Given the description of an element on the screen output the (x, y) to click on. 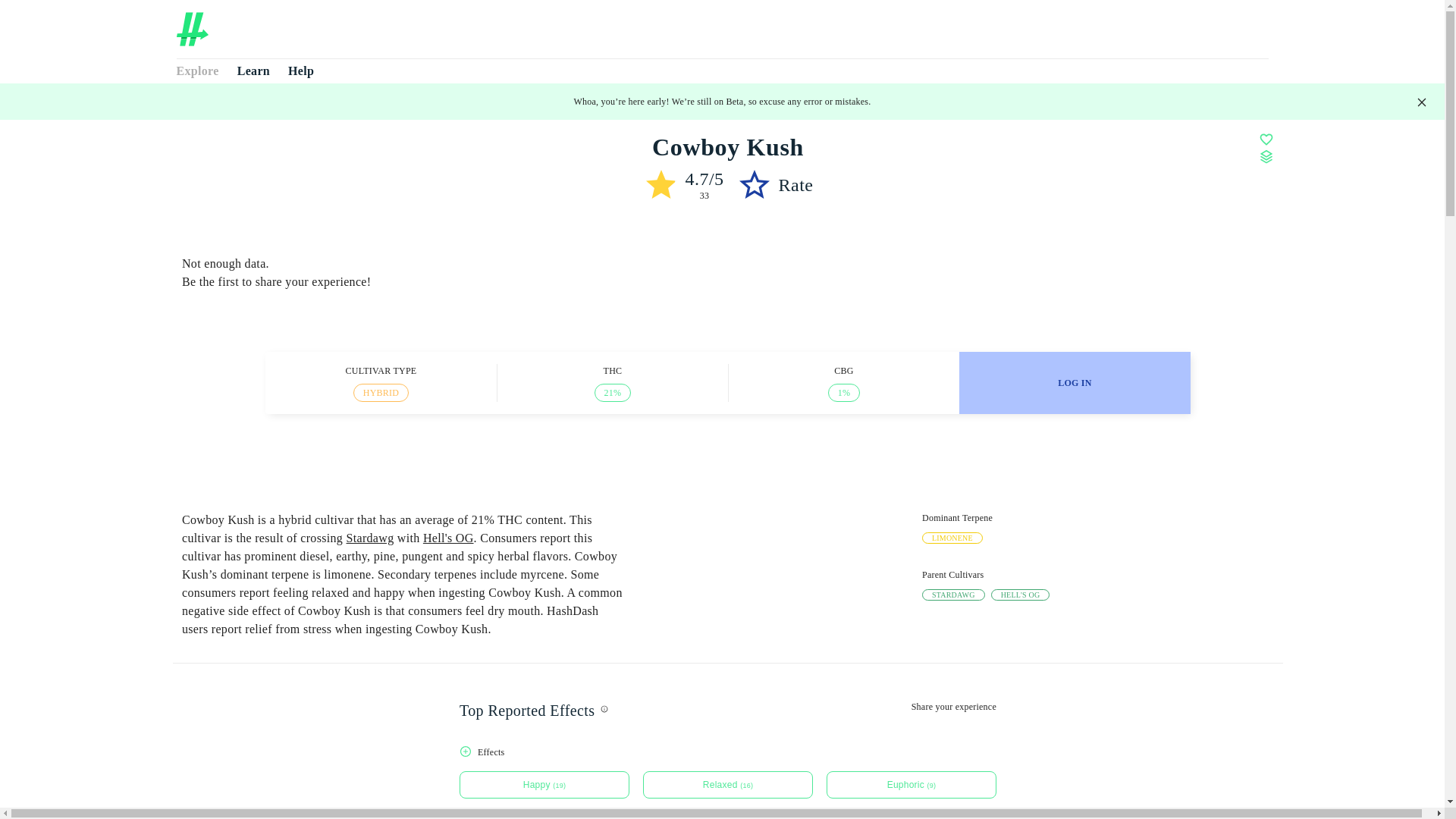
HashStash (200, 85)
Learn (253, 70)
limonene (951, 537)
Explore (197, 70)
Cultivars (266, 85)
LIMONENE (951, 537)
Help (301, 70)
euphoric (911, 784)
happy (544, 784)
Effects (727, 771)
